Given the description of an element on the screen output the (x, y) to click on. 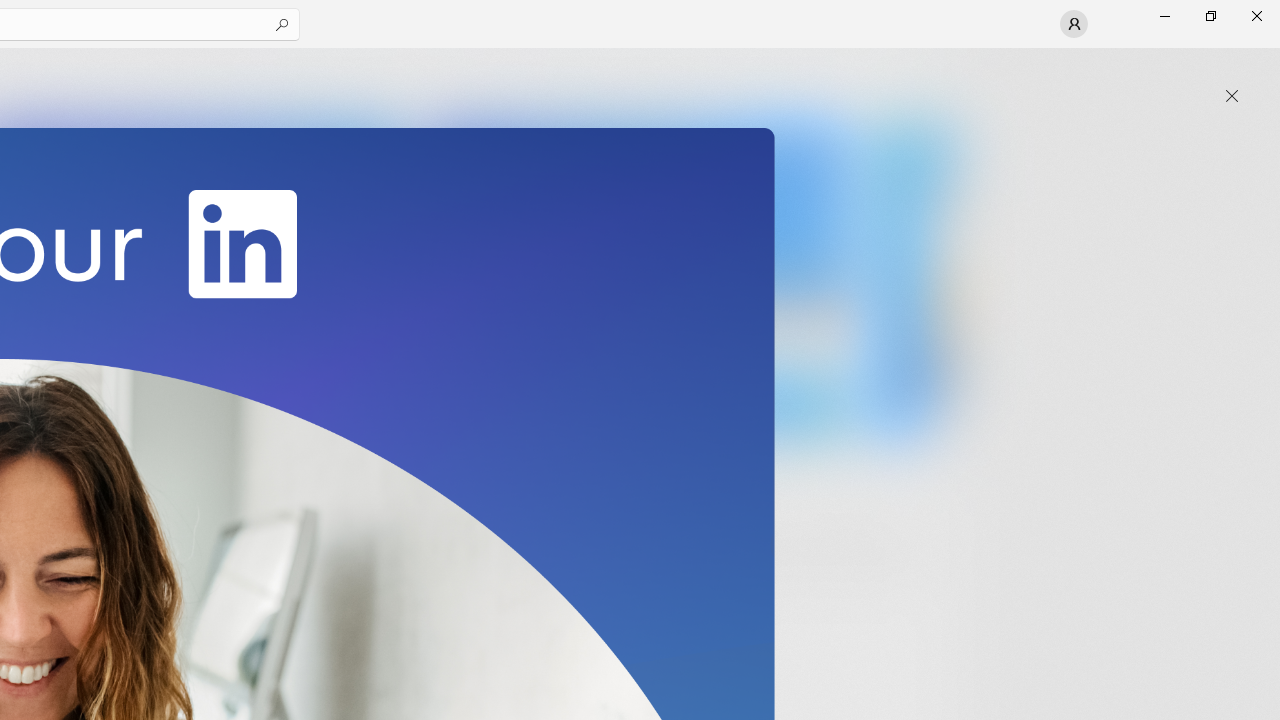
User profile (1073, 24)
Close Microsoft Store (1256, 15)
See all (924, 72)
Screenshot 3 (636, 279)
Minimize Microsoft Store (1164, 15)
Screenshot 4 (912, 279)
Restore Microsoft Store (1210, 15)
close popup window (1232, 95)
